Given the description of an element on the screen output the (x, y) to click on. 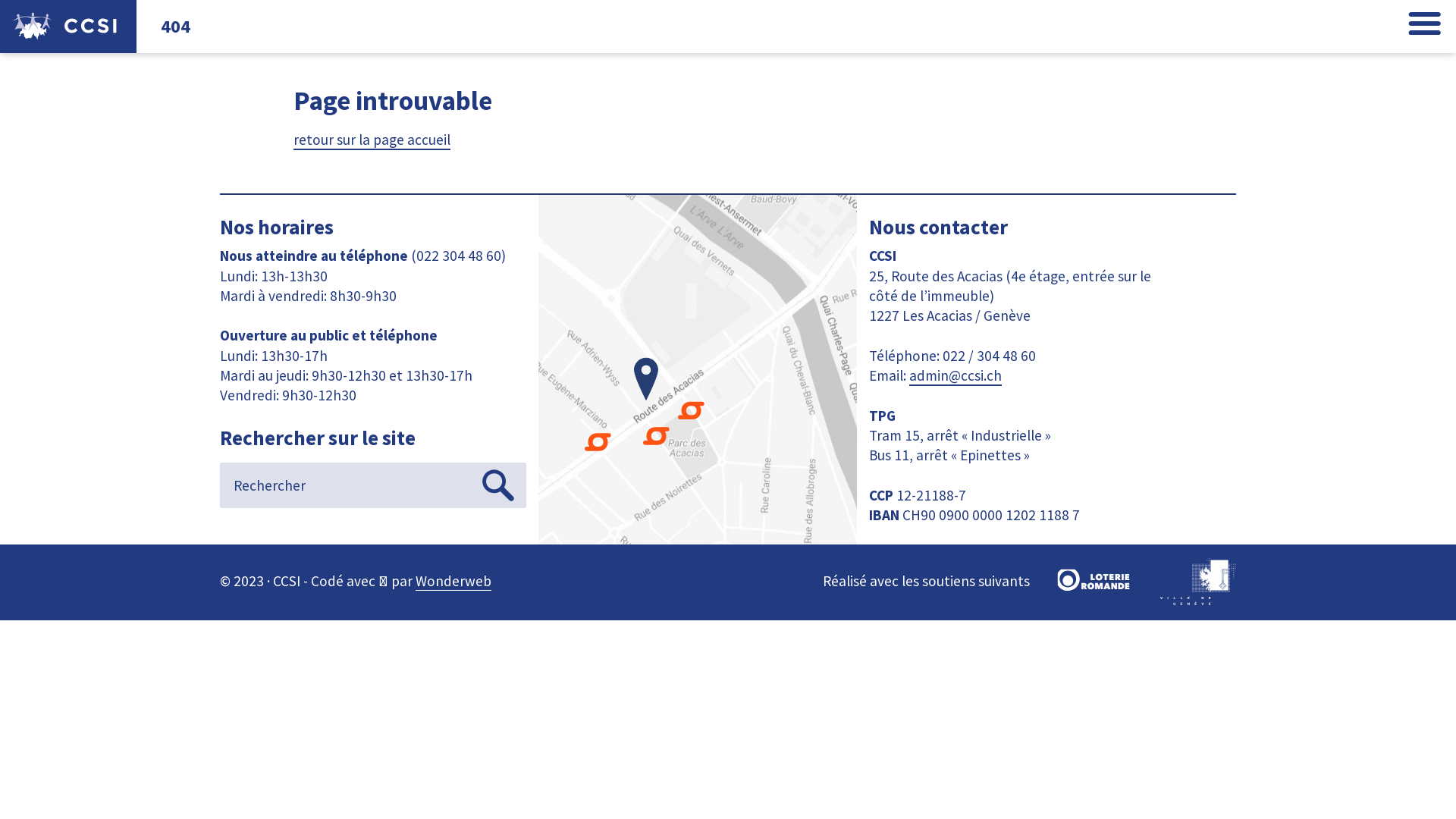
admin@ccsi.ch Element type: text (955, 375)
Wonderweb Element type: text (453, 580)
retour sur la page accueil Element type: text (371, 140)
